Given the description of an element on the screen output the (x, y) to click on. 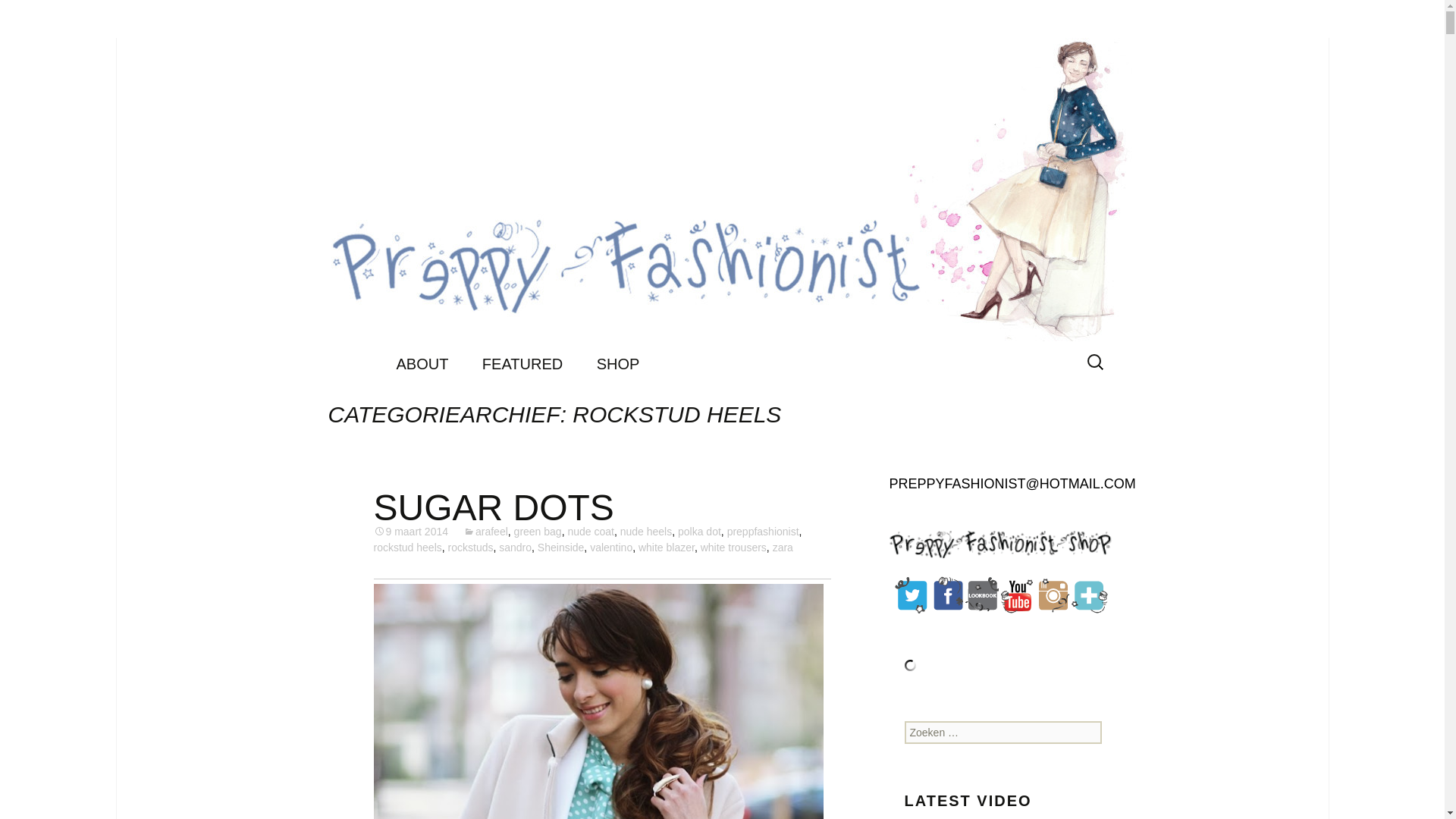
valentino (610, 547)
SUGAR DOTS (492, 507)
Sheinside (561, 547)
arafeel (485, 531)
Lookbook (982, 595)
preppfashionist (762, 531)
ABOUT (421, 363)
nude coat (590, 531)
polka dot (699, 531)
white blazer (666, 547)
Facebook (948, 595)
Twitter (911, 595)
white trousers (733, 547)
